Given the description of an element on the screen output the (x, y) to click on. 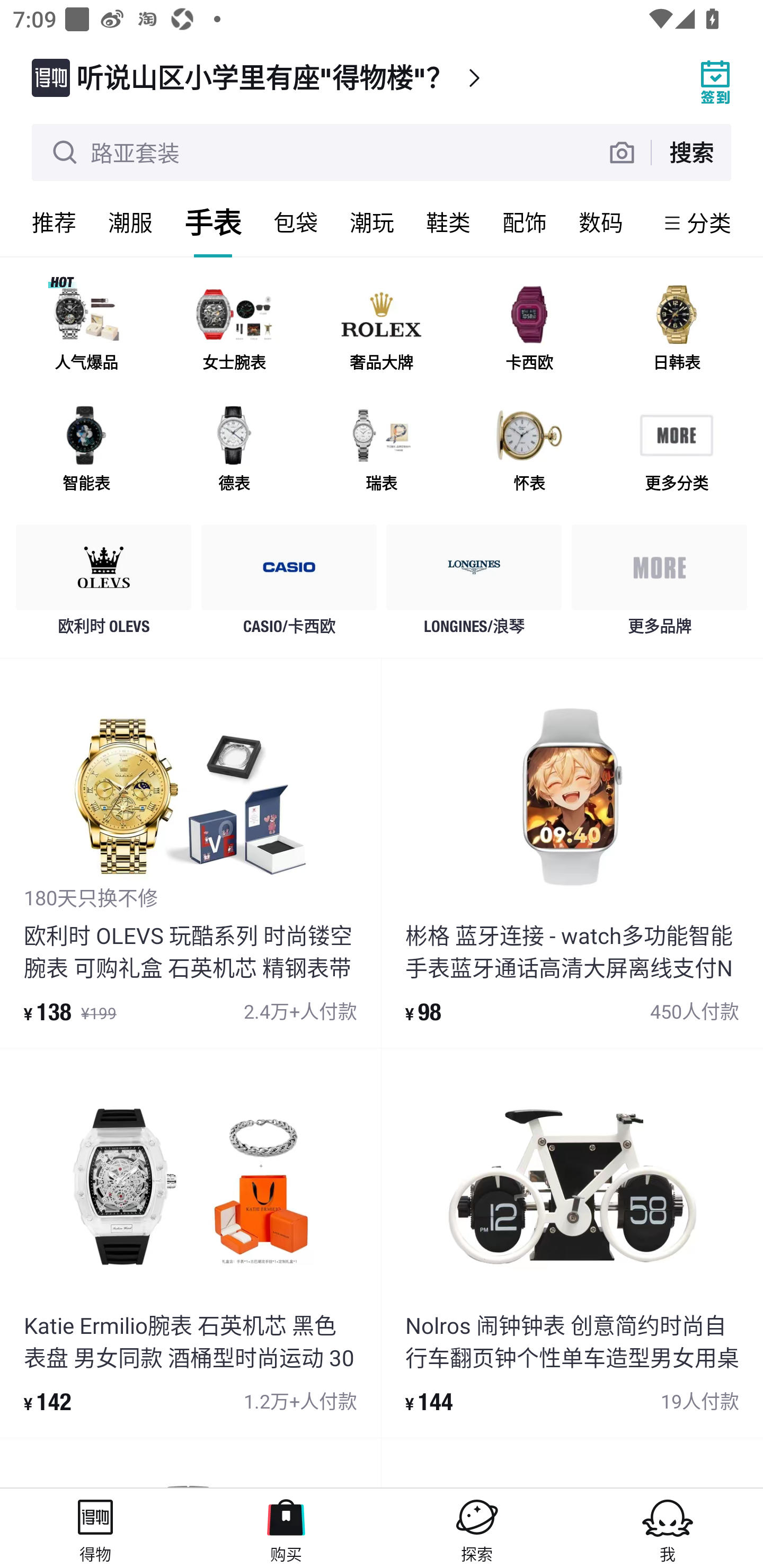
搜索 (690, 152)
推荐 (54, 222)
潮服 (130, 222)
手表 (212, 222)
包袋 (295, 222)
潮玩 (372, 222)
鞋类 (448, 222)
配饰 (524, 222)
数码 (601, 222)
分类 (708, 222)
人气爆品 (86, 329)
女士腕表 (233, 329)
奢品大牌 (381, 329)
卡西欧 (528, 329)
日韩表 (676, 329)
智能表 (86, 450)
德表 (233, 450)
瑞表 (381, 450)
怀表 (528, 450)
更多分类 (676, 450)
欧利时 OLEVS (103, 583)
CASIO/卡西欧 (288, 583)
LONGINES/浪琴 (473, 583)
更多品牌 (658, 583)
得物 (95, 1528)
购买 (285, 1528)
探索 (476, 1528)
我 (667, 1528)
